Given the description of an element on the screen output the (x, y) to click on. 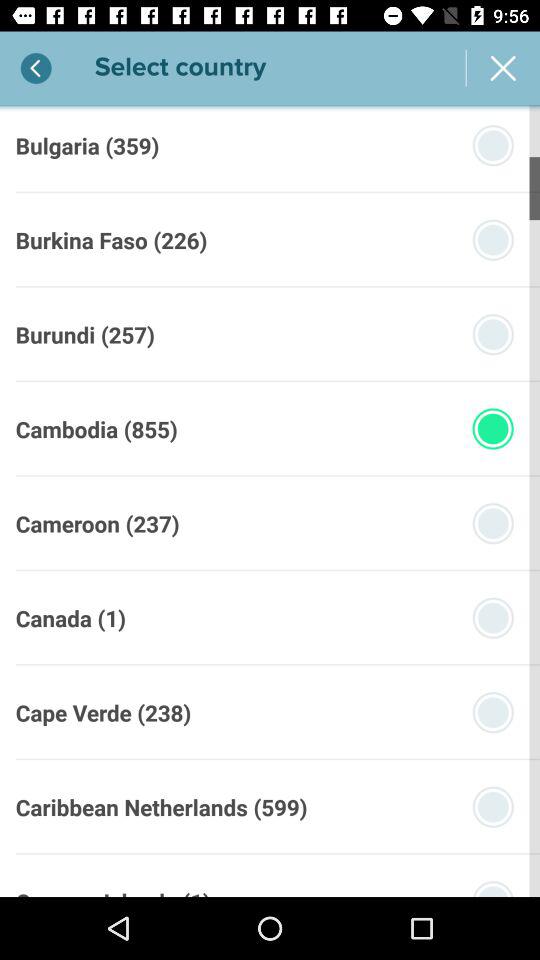
press the burundi (257) (84, 334)
